Given the description of an element on the screen output the (x, y) to click on. 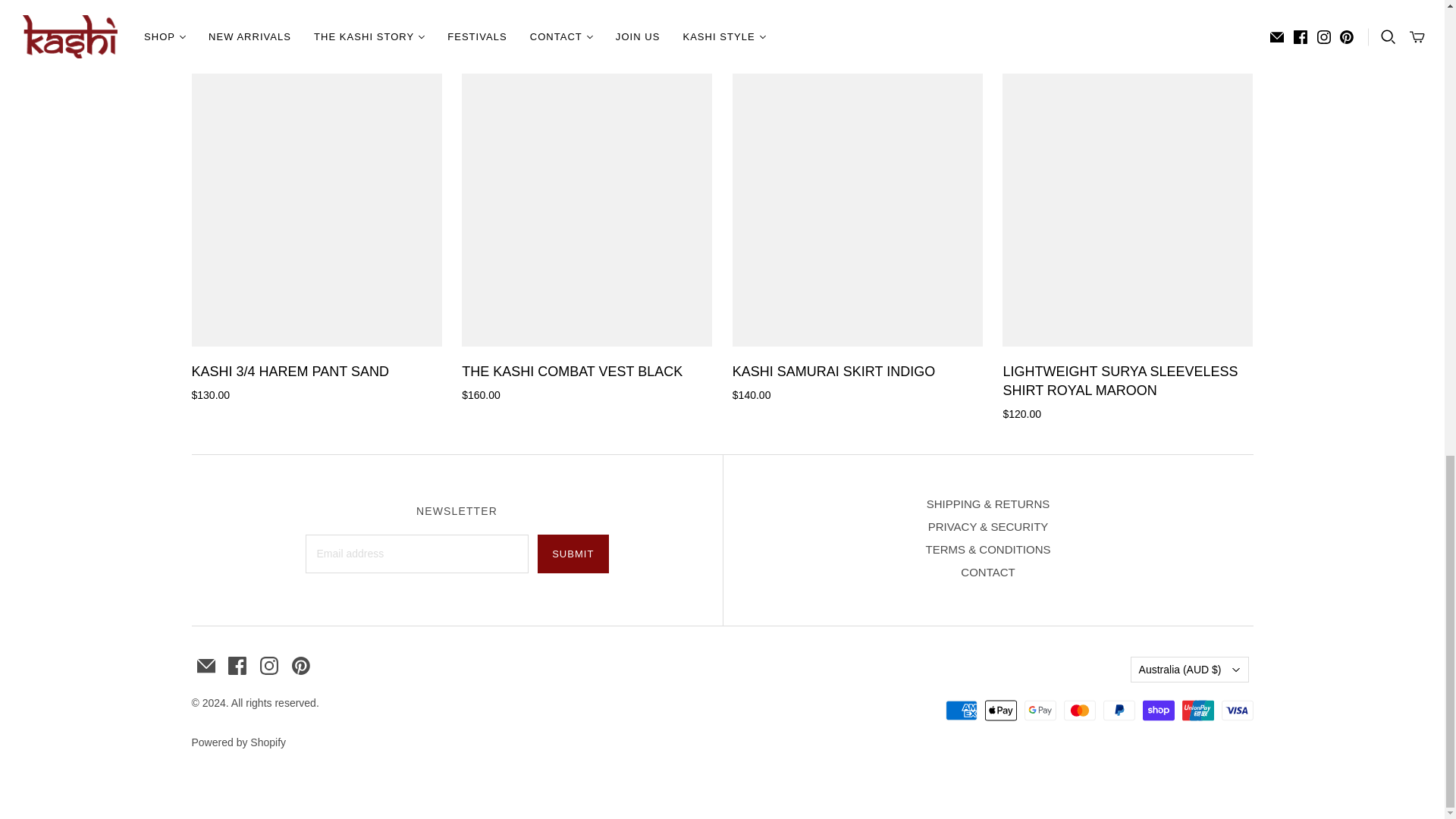
American Express (960, 710)
Apple Pay (1000, 710)
